Given the description of an element on the screen output the (x, y) to click on. 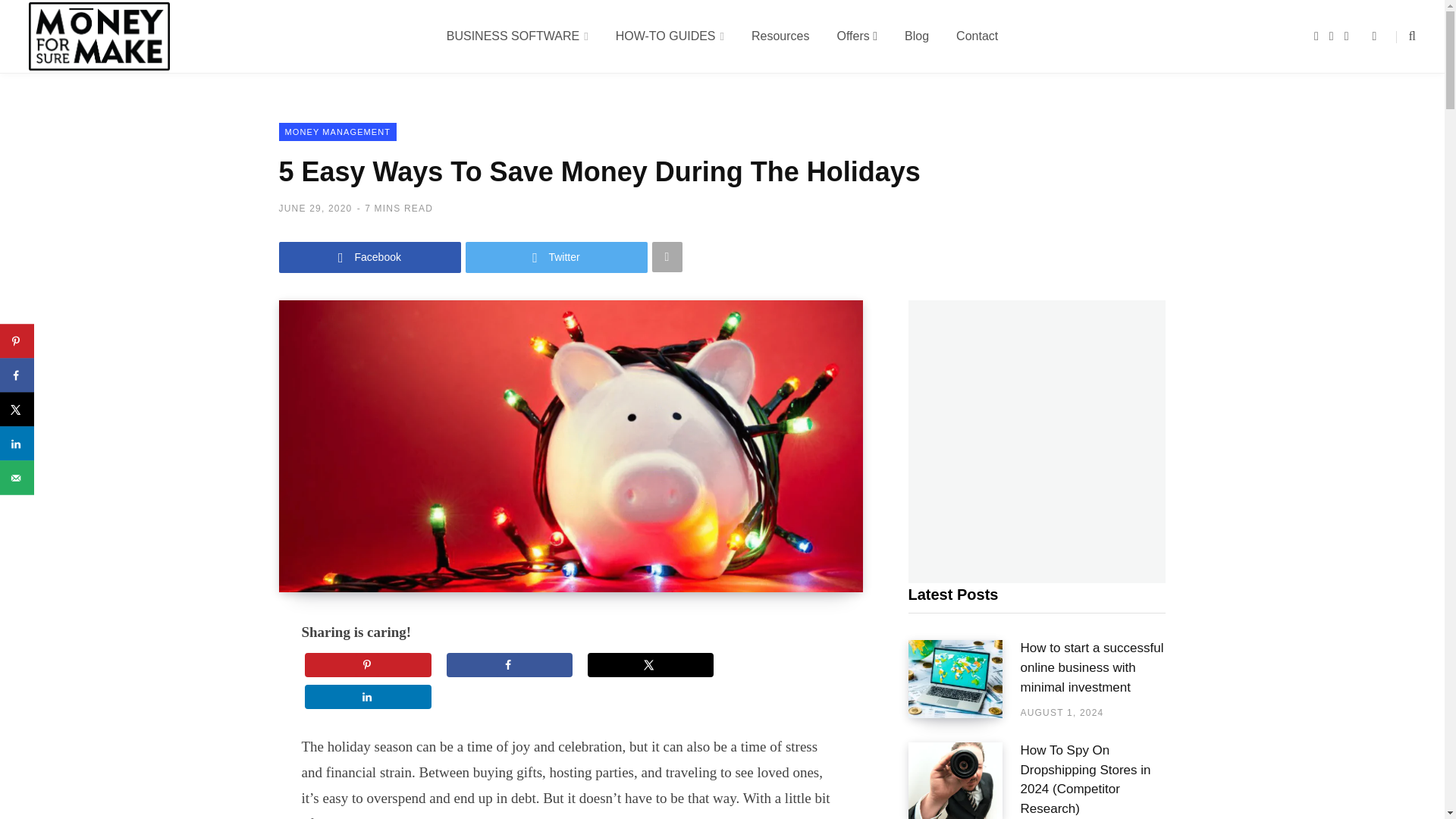
Facebook (1315, 36)
MONEY MANAGEMENT (338, 131)
Pinterest (1346, 36)
Search (1405, 36)
Switch to Dark Design - easier on eyes. (1374, 36)
Twitter (556, 256)
Share on Facebook (509, 664)
MakeMoneyForSure (99, 36)
Twitter (556, 256)
Facebook (370, 256)
Resources (780, 36)
HOW-TO GUIDES (670, 36)
Facebook (370, 256)
JUNE 29, 2020 (315, 208)
